Given the description of an element on the screen output the (x, y) to click on. 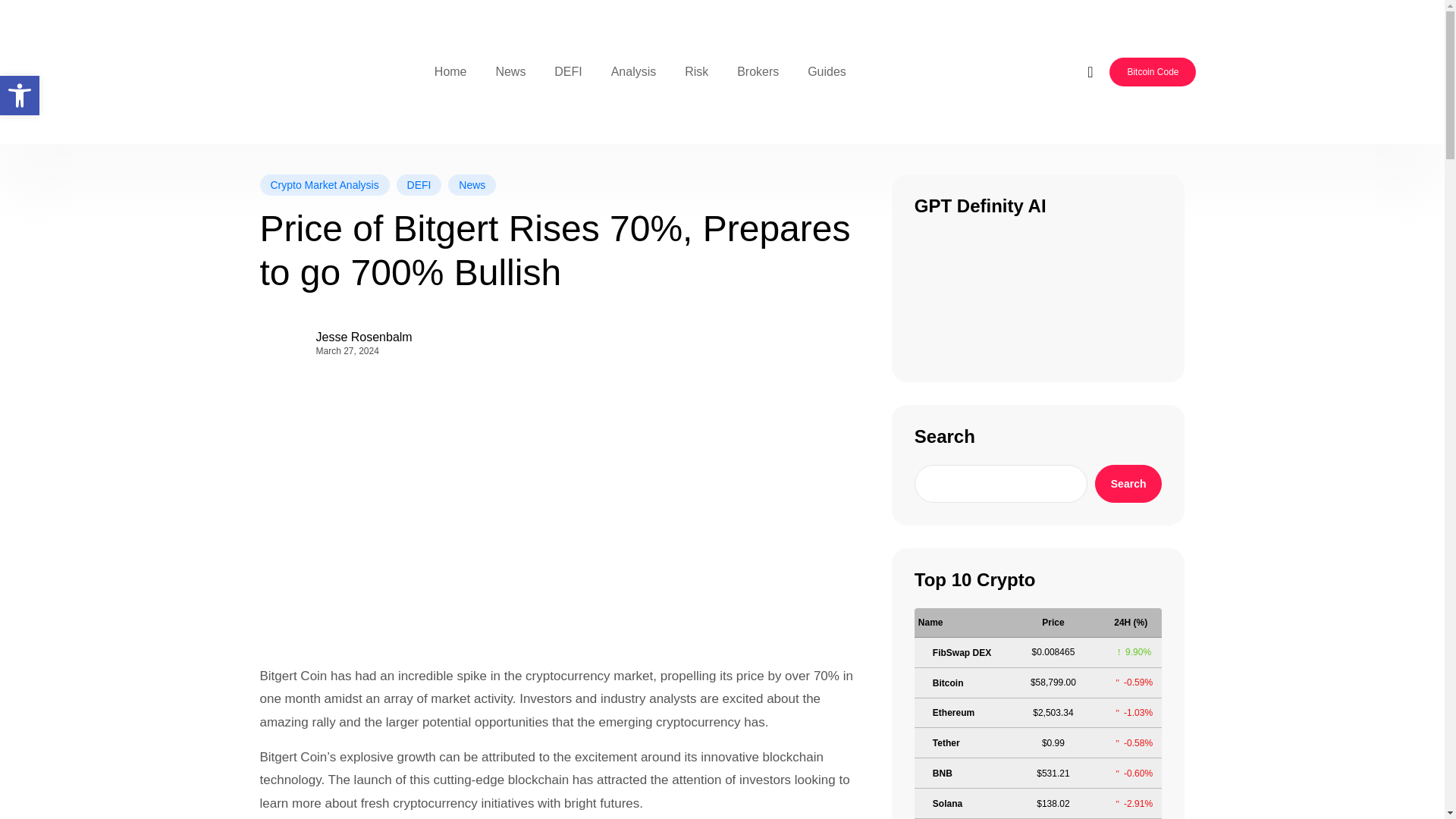
DEFI (567, 71)
Crypto Market Analysis (323, 184)
Risk (695, 71)
Accessibility Tools (19, 95)
News (509, 71)
Bitcoin Code (1152, 71)
News (472, 184)
Brokers (757, 71)
Accessibility Tools (19, 95)
Home (451, 71)
